Given the description of an element on the screen output the (x, y) to click on. 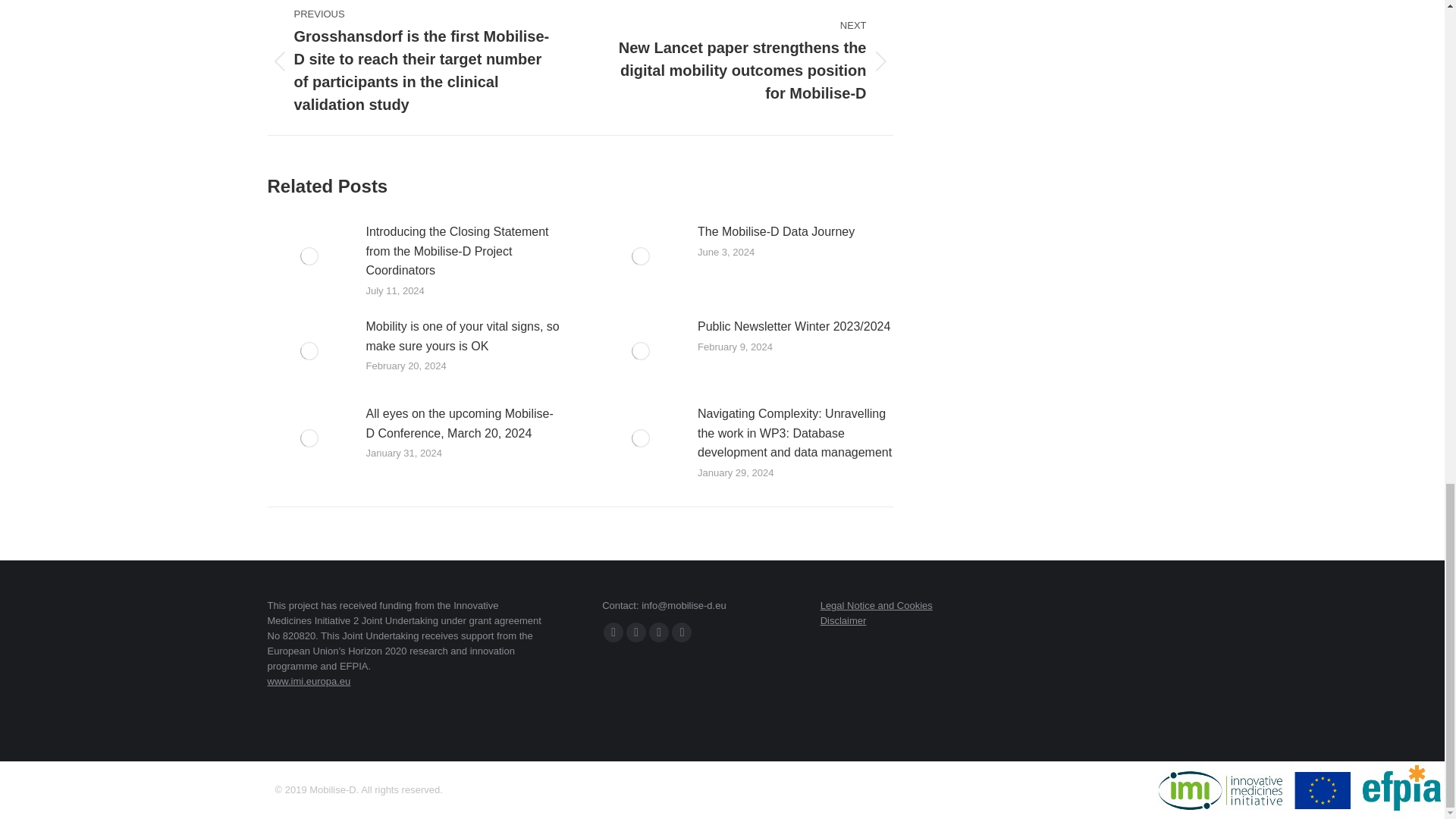
Linkedin page opens in new window (658, 632)
Facebook page opens in new window (613, 632)
YouTube page opens in new window (636, 632)
